Given the description of an element on the screen output the (x, y) to click on. 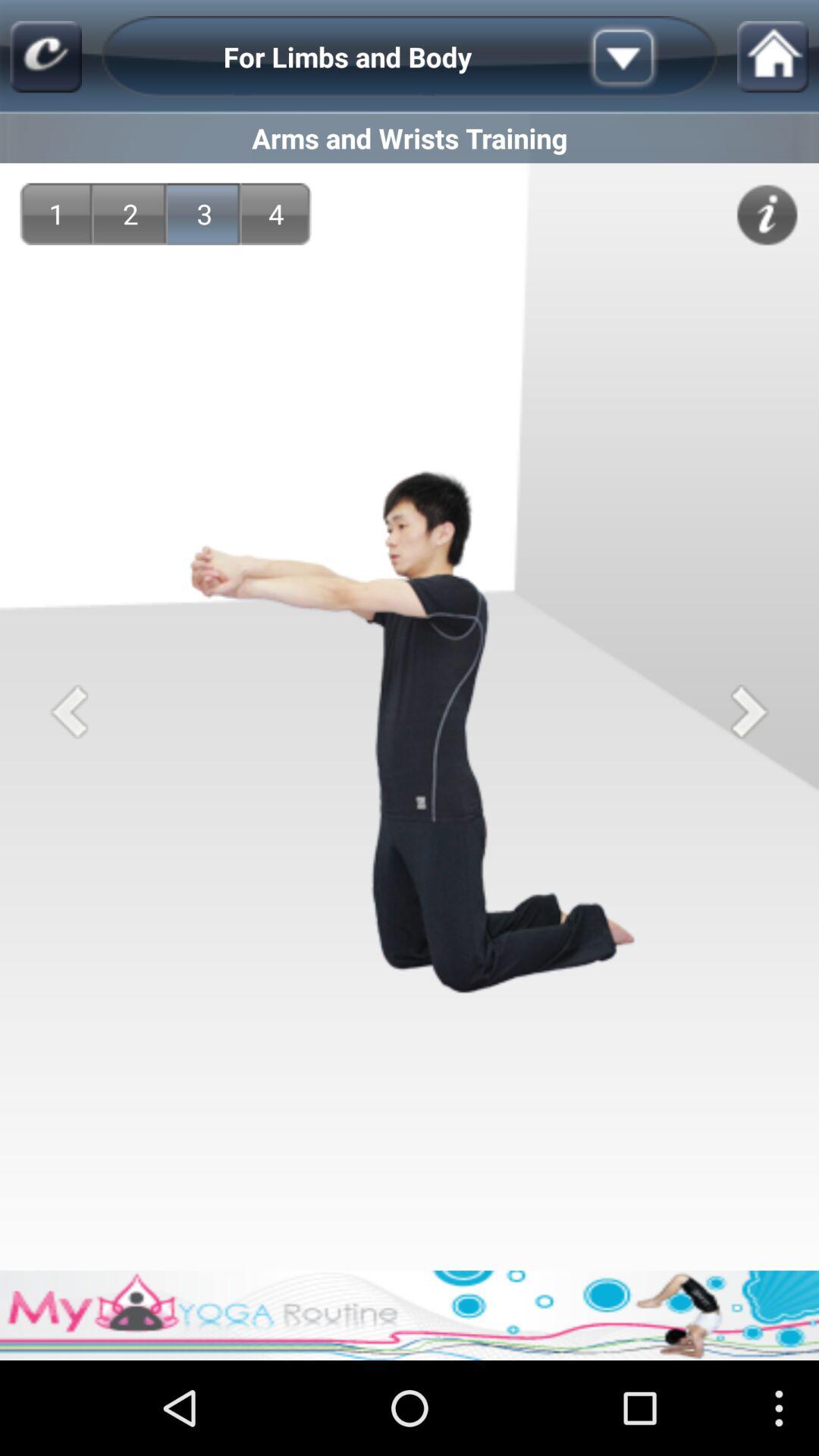
go to next page (749, 711)
